Given the description of an element on the screen output the (x, y) to click on. 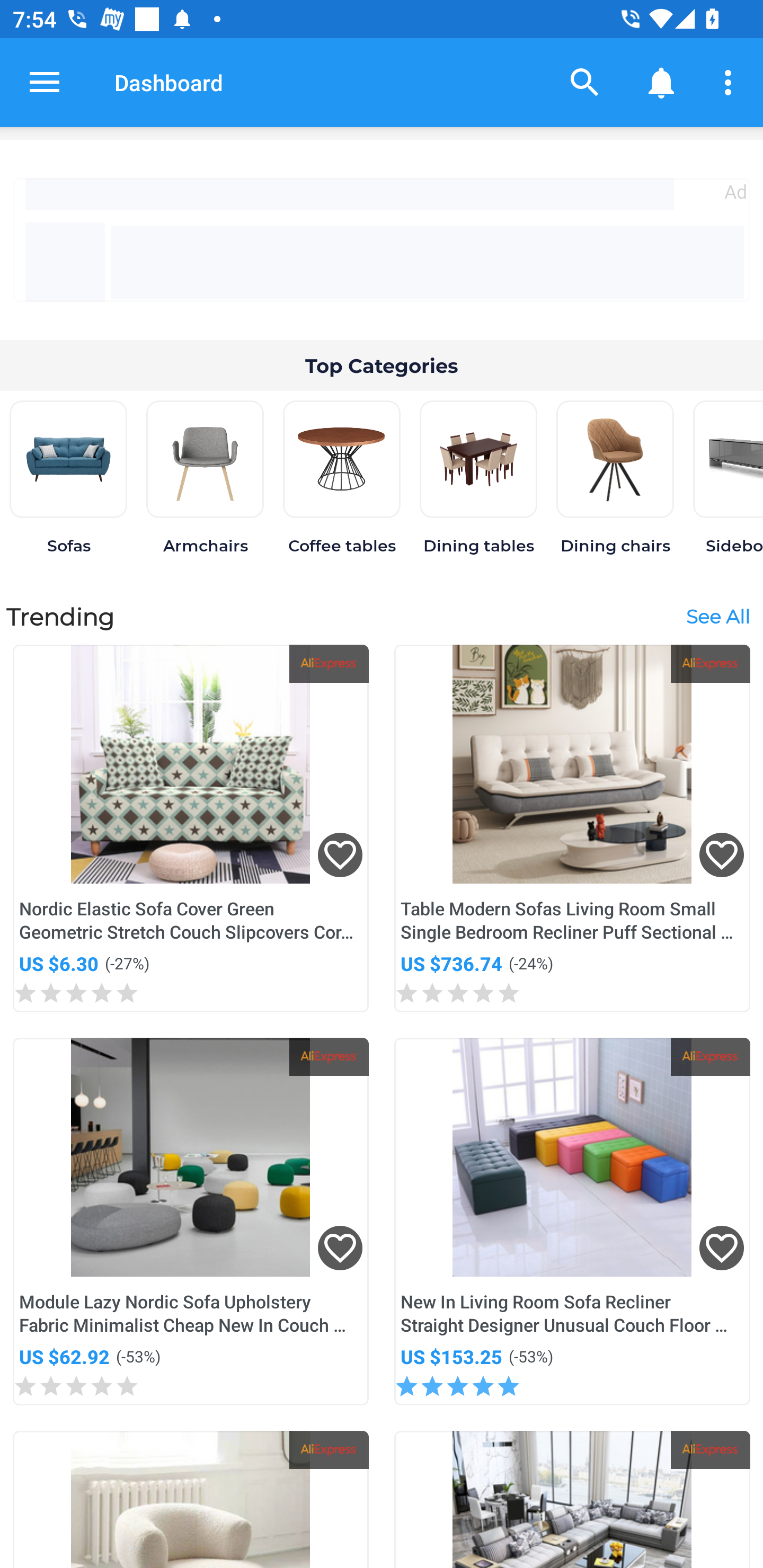
Open navigation drawer (44, 82)
Search (585, 81)
More options (731, 81)
See All (717, 615)
